Given the description of an element on the screen output the (x, y) to click on. 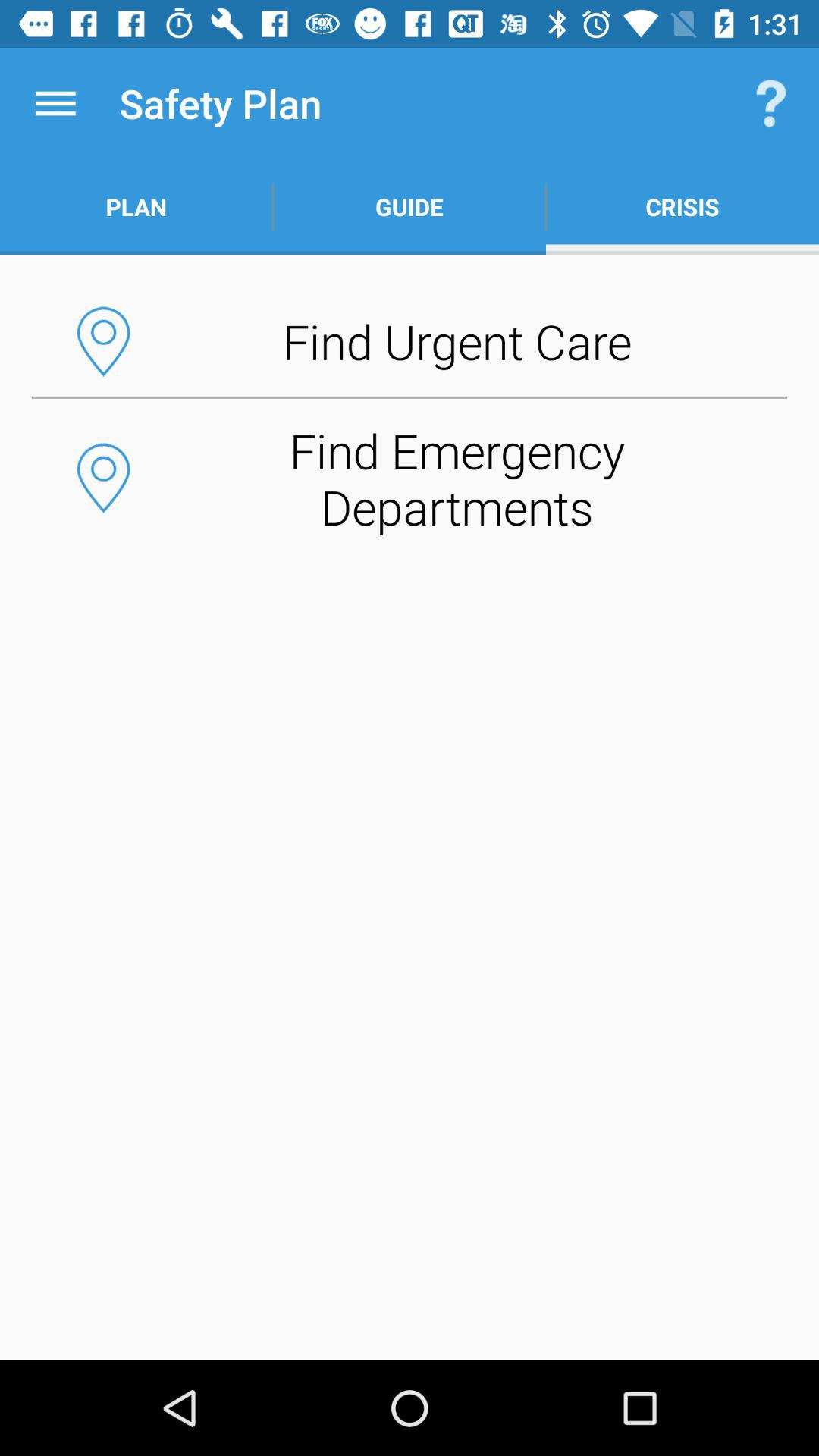
select the icon next to plan (409, 206)
